Given the description of an element on the screen output the (x, y) to click on. 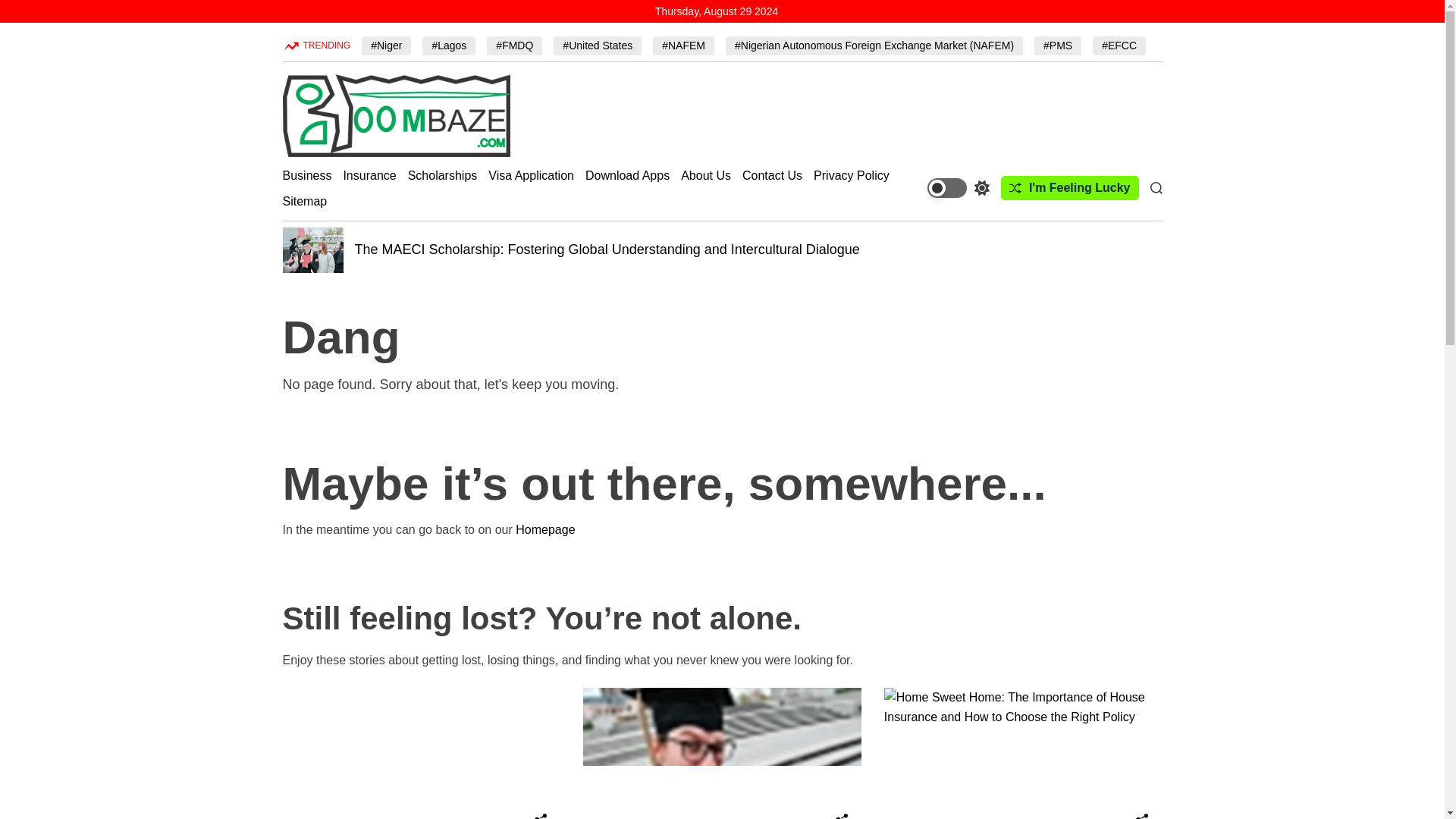
Visa Application (530, 175)
Sitemap (304, 201)
Search (1155, 187)
Download Apps (627, 175)
I'm Feeling Lucky (1069, 187)
Privacy Policy (851, 175)
Scholarships (442, 175)
About Us (705, 175)
Homepage (545, 529)
